Given the description of an element on the screen output the (x, y) to click on. 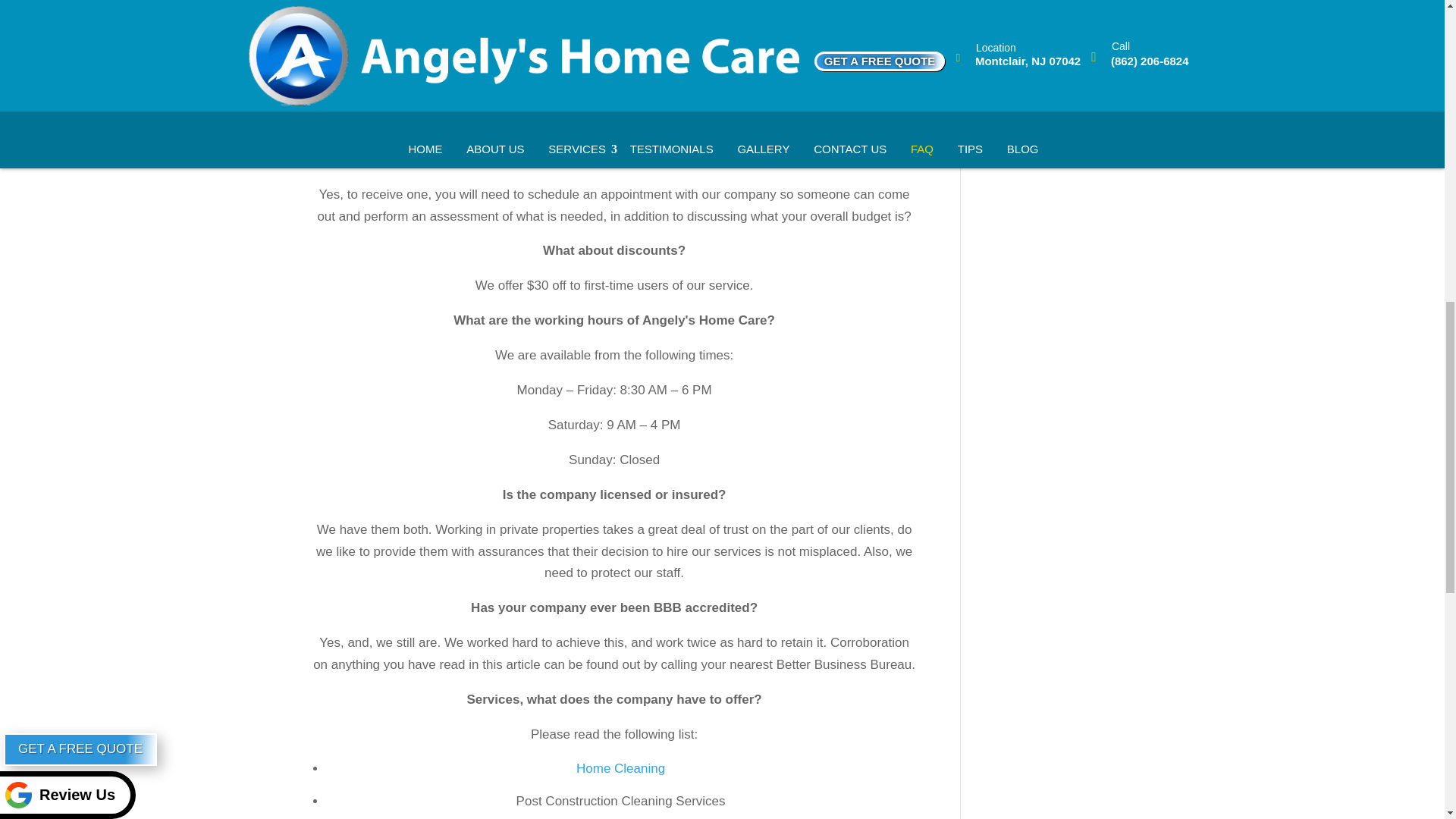
Home Cleaning (620, 768)
